Given the description of an element on the screen output the (x, y) to click on. 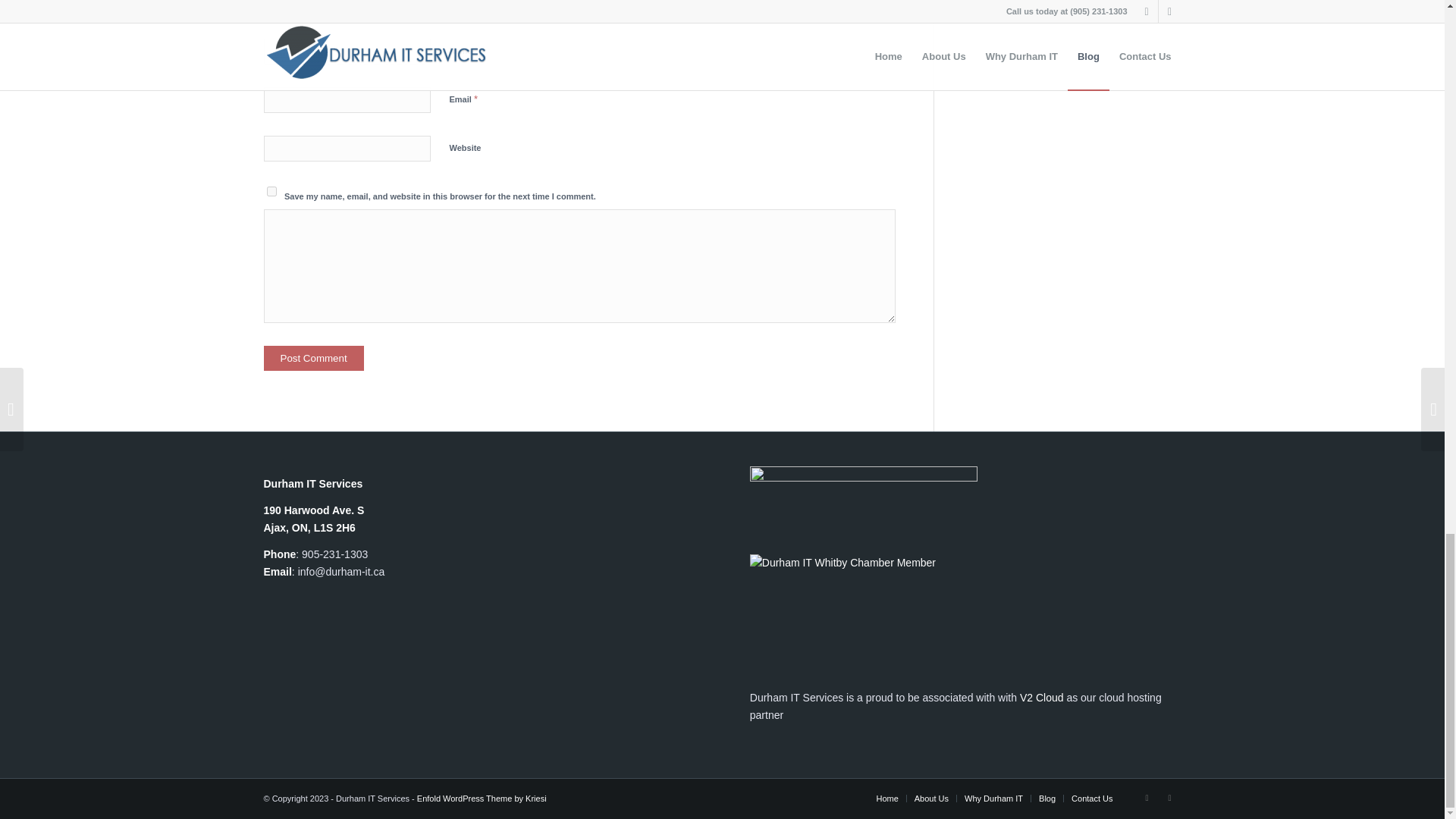
Post Comment (313, 358)
yes (271, 191)
Post Comment (313, 358)
